Given the description of an element on the screen output the (x, y) to click on. 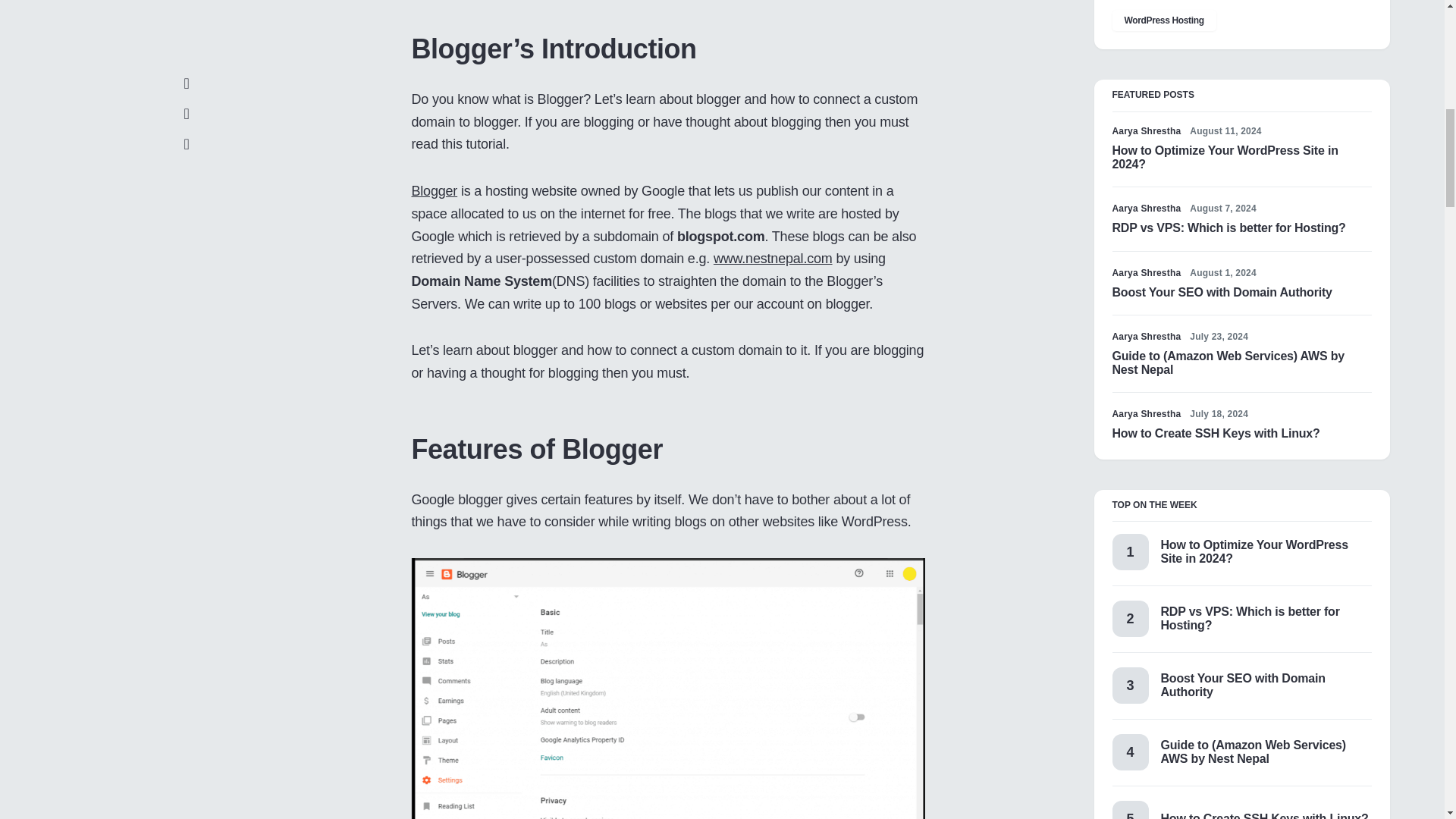
View all posts by Aarya Shrestha (1146, 336)
View all posts by Aarya Shrestha (1146, 413)
View all posts by Aarya Shrestha (1146, 208)
View all posts by Aarya Shrestha (1146, 131)
View all posts by Aarya Shrestha (1146, 273)
